Given the description of an element on the screen output the (x, y) to click on. 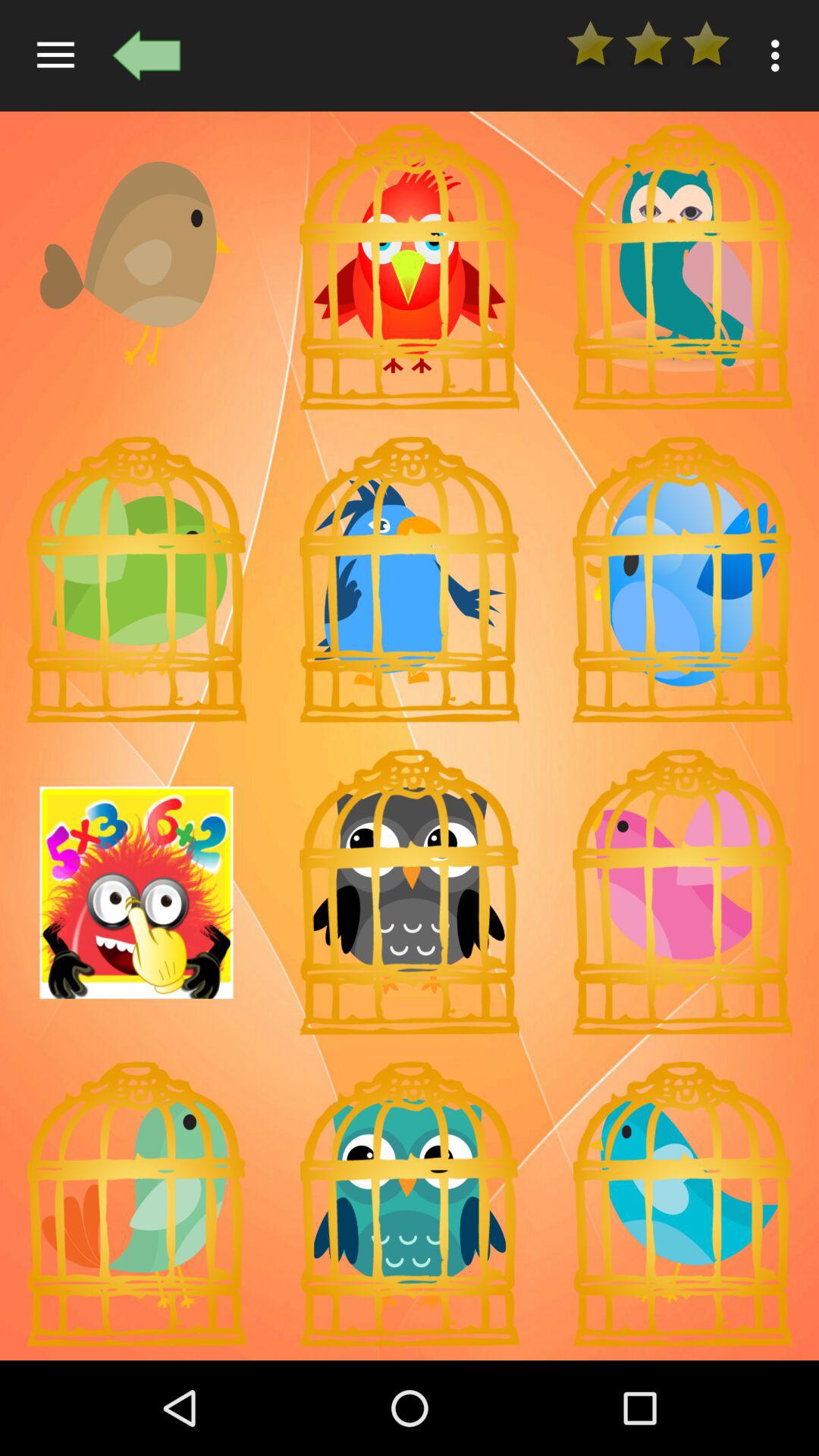
chooses this particular emoji (136, 579)
